Given the description of an element on the screen output the (x, y) to click on. 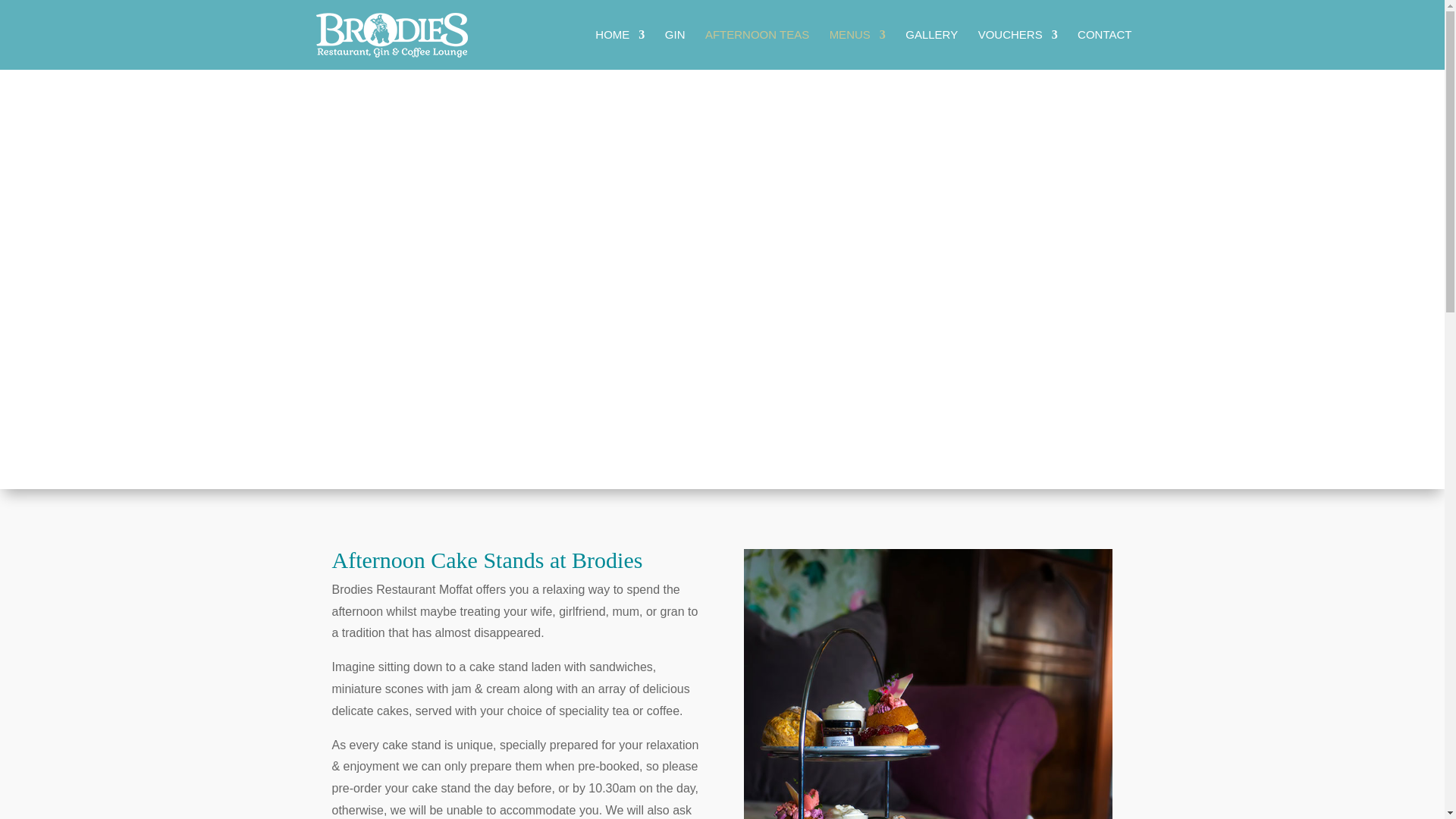
VOUCHERS (1018, 49)
GALLERY (931, 49)
HOME (620, 49)
AFTERNOON TEAS (756, 49)
Brodies of Moffat (928, 683)
MENUS (857, 49)
CONTACT (1104, 49)
